Given the description of an element on the screen output the (x, y) to click on. 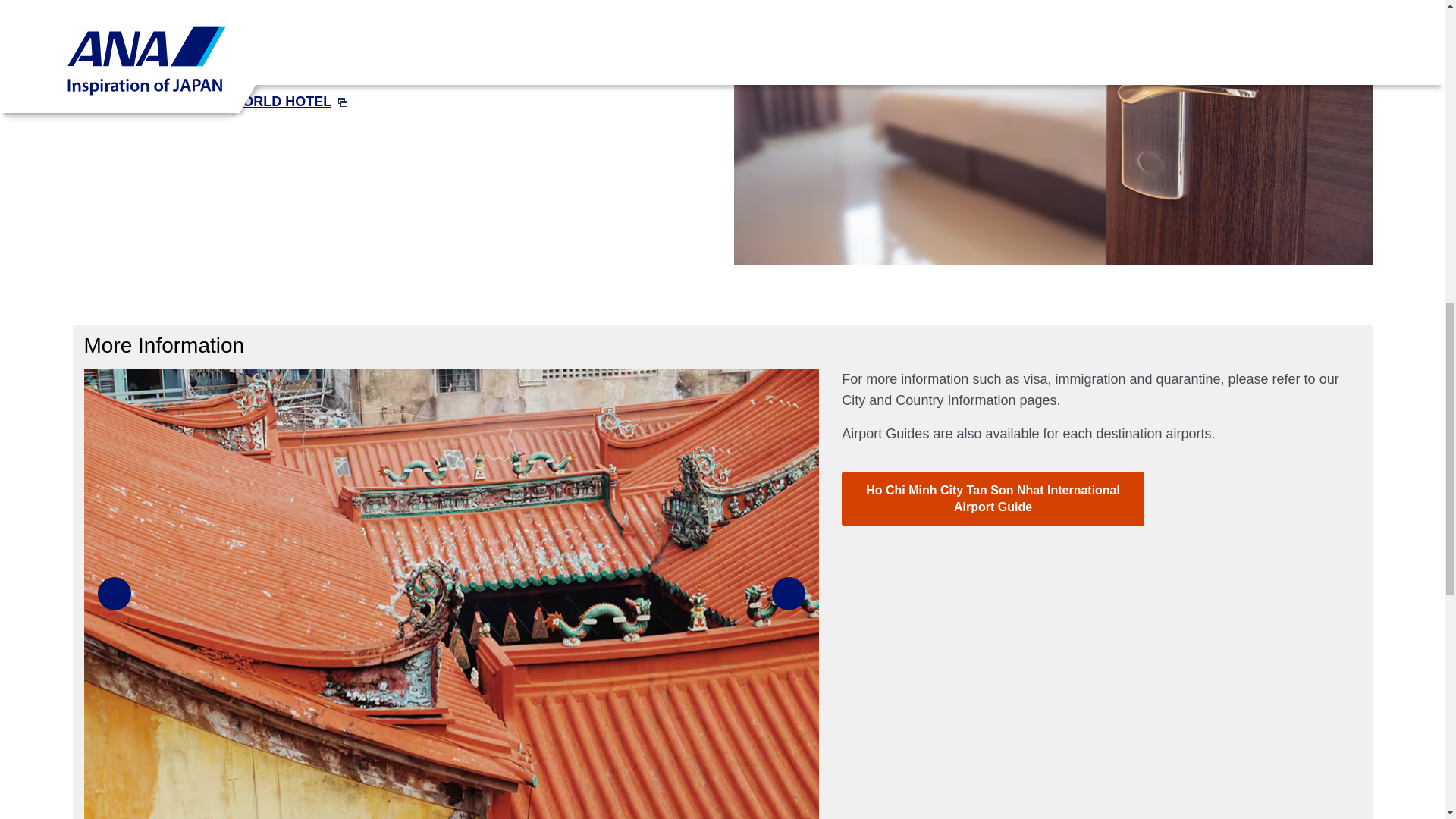
Next (788, 593)
Previous (114, 593)
Ho Chi Minh City Tan Son Nhat International Airport Guide (991, 498)
See more hotels at ANA WORLD HOTEL (215, 101)
